Given the description of an element on the screen output the (x, y) to click on. 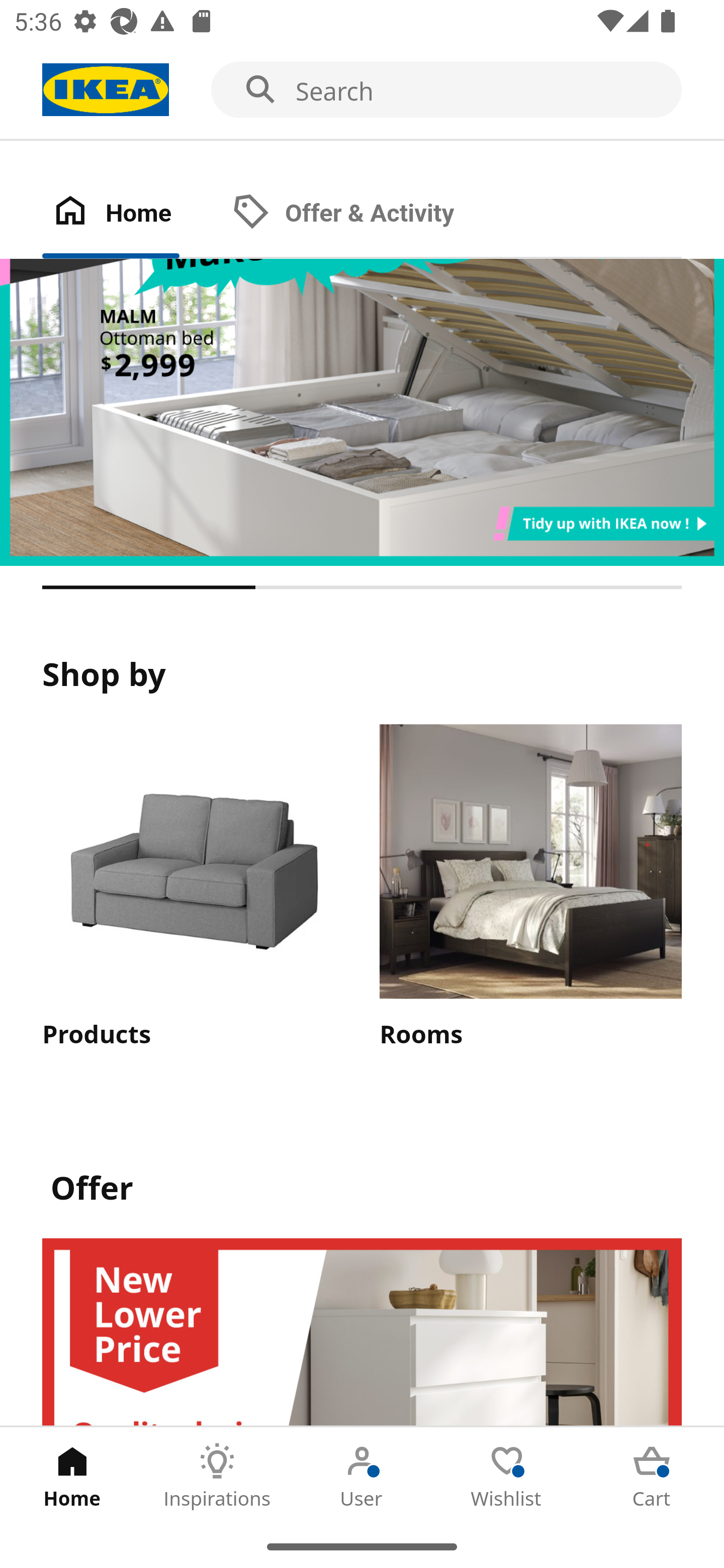
Search (361, 90)
Home
Tab 1 of 2 (131, 213)
Offer & Activity
Tab 2 of 2 (363, 213)
Products (192, 888)
Rooms (530, 888)
Home
Tab 1 of 5 (72, 1476)
Inspirations
Tab 2 of 5 (216, 1476)
User
Tab 3 of 5 (361, 1476)
Wishlist
Tab 4 of 5 (506, 1476)
Cart
Tab 5 of 5 (651, 1476)
